Given the description of an element on the screen output the (x, y) to click on. 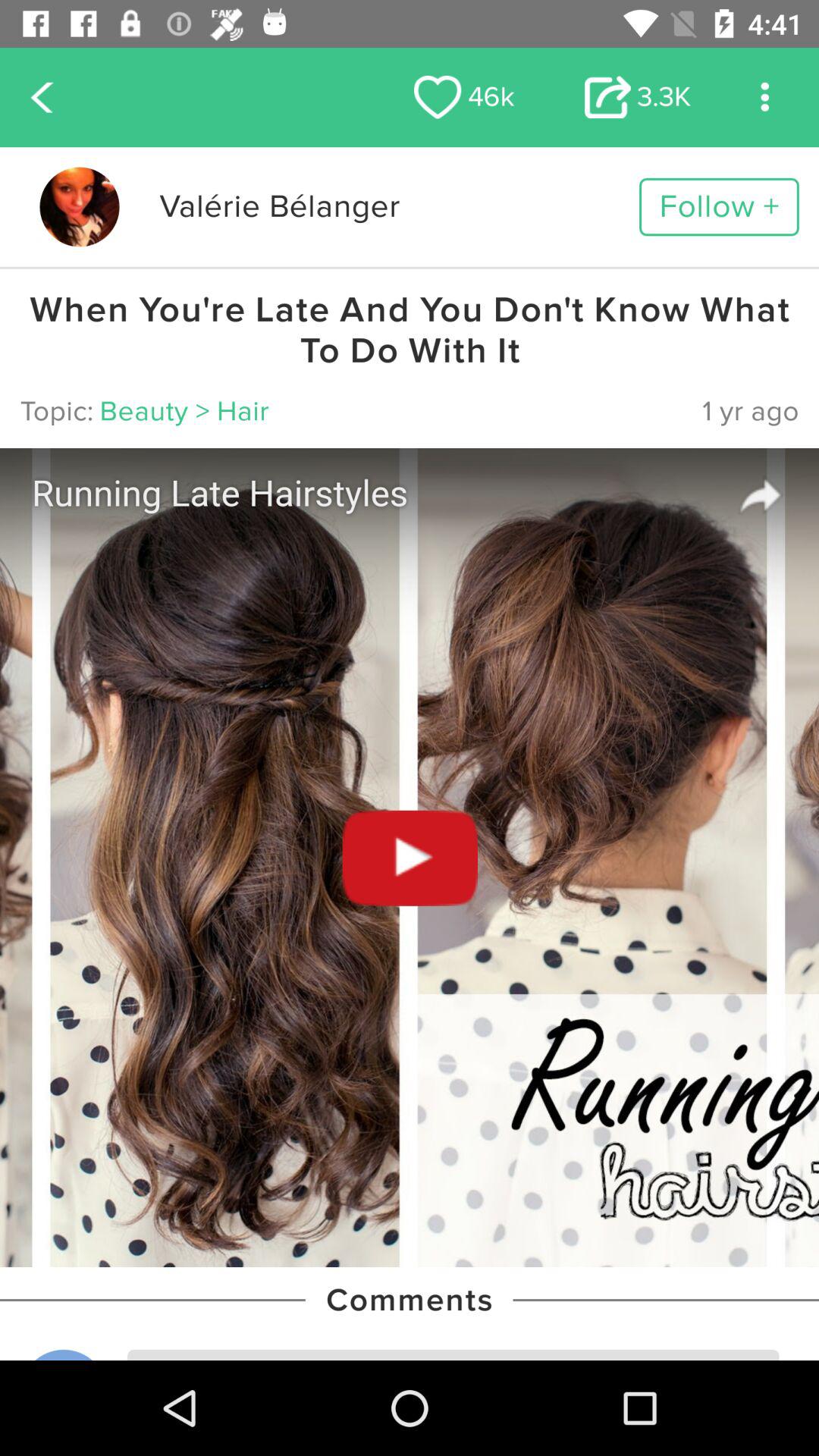
profile (79, 206)
